Given the description of an element on the screen output the (x, y) to click on. 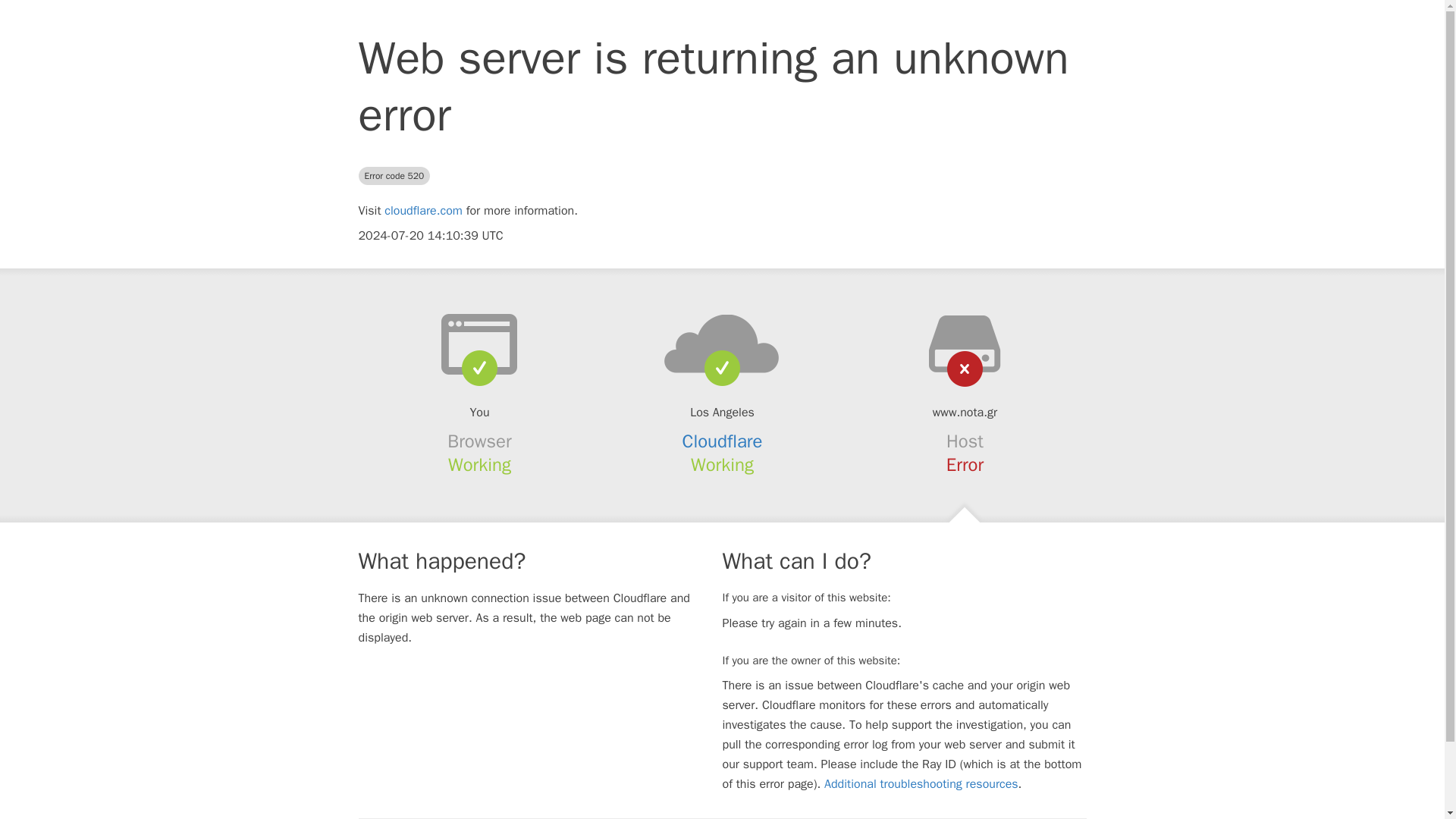
Additional troubleshooting resources (920, 783)
Cloudflare (722, 440)
cloudflare.com (423, 210)
